Given the description of an element on the screen output the (x, y) to click on. 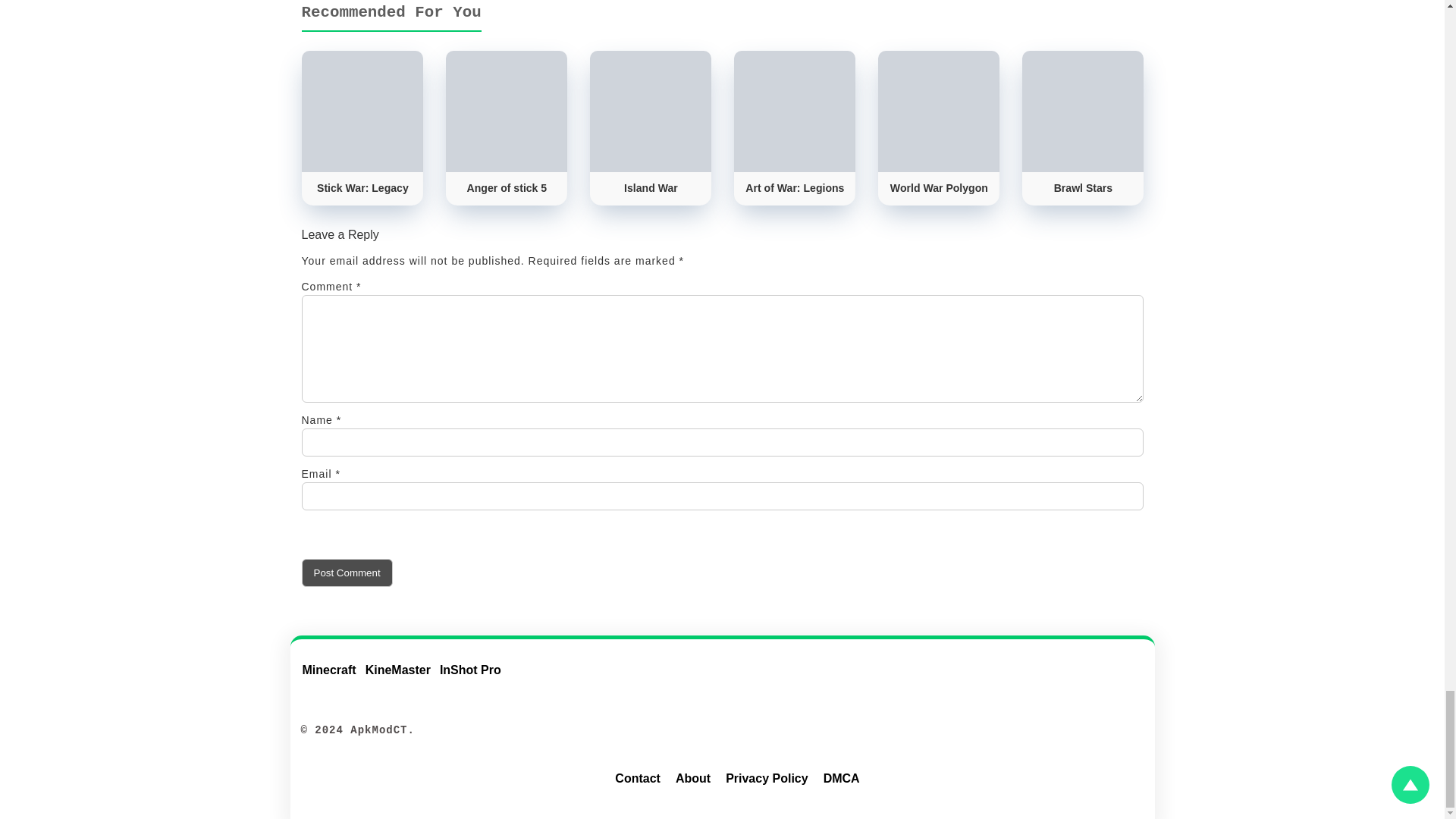
KineMaster Mod Apk (402, 679)
Post Comment (347, 572)
Minecraft Mod Apk (333, 679)
InShot Pro Apk (475, 679)
DMCA (841, 780)
About (692, 780)
Privacy Policy (766, 780)
Contact (637, 780)
